Given the description of an element on the screen output the (x, y) to click on. 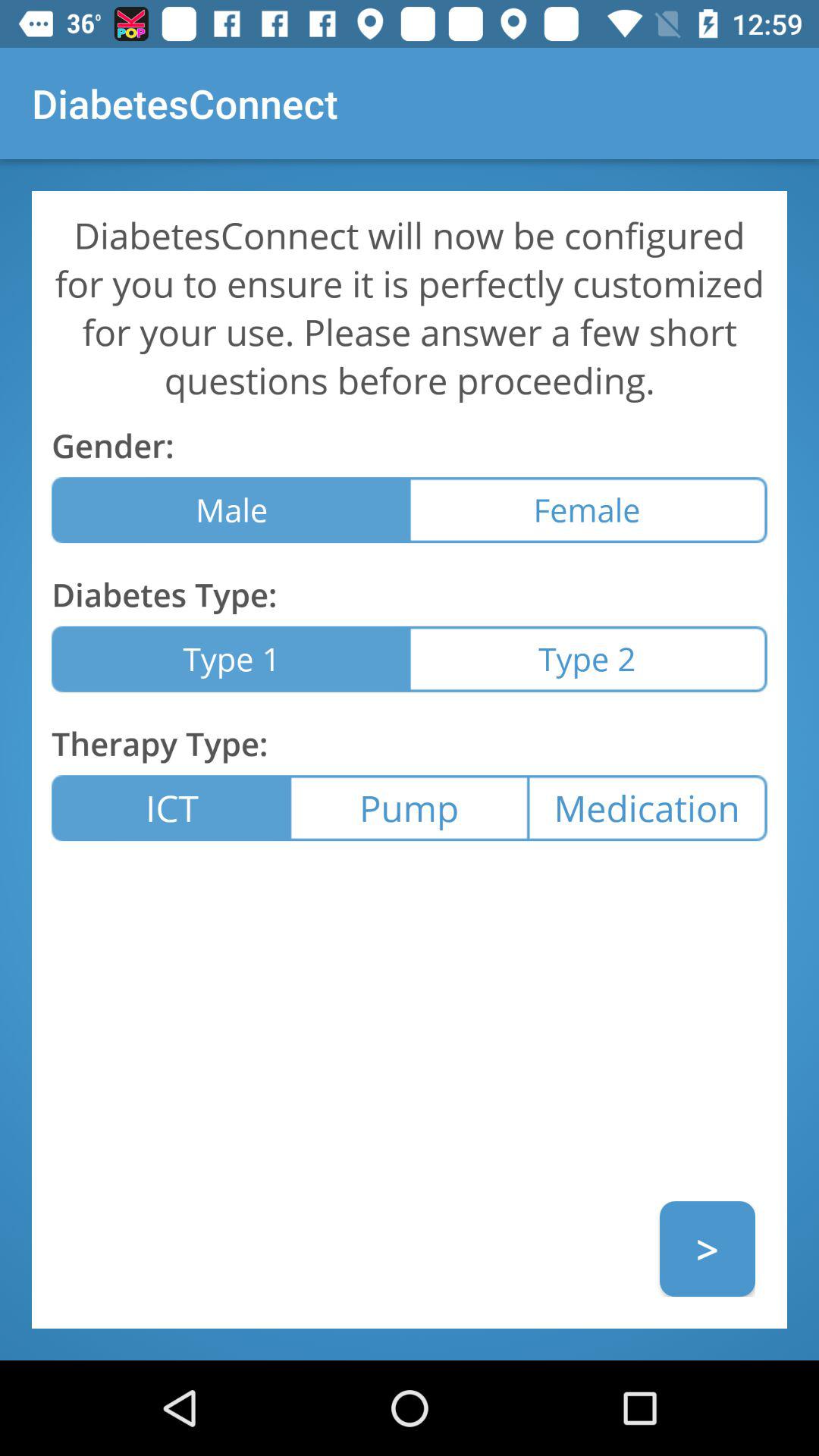
turn on ict item (170, 808)
